Given the description of an element on the screen output the (x, y) to click on. 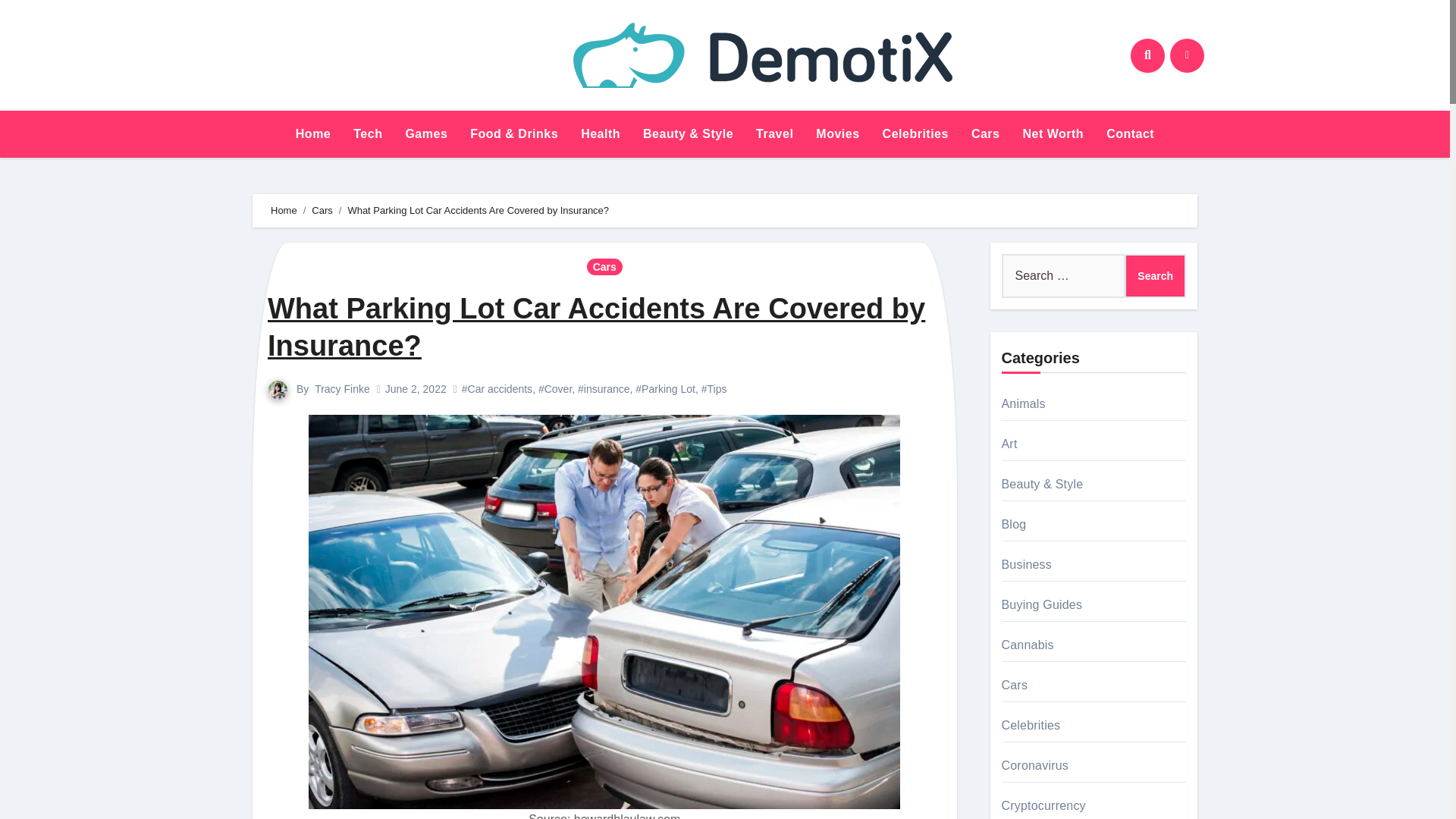
Movies (837, 133)
Contact (1130, 133)
Health (600, 133)
Cars (321, 210)
Tech (367, 133)
June 2, 2022 (415, 388)
Search (1155, 275)
Home (283, 210)
Movies (837, 133)
Tracy Finke (341, 388)
